Given the description of an element on the screen output the (x, y) to click on. 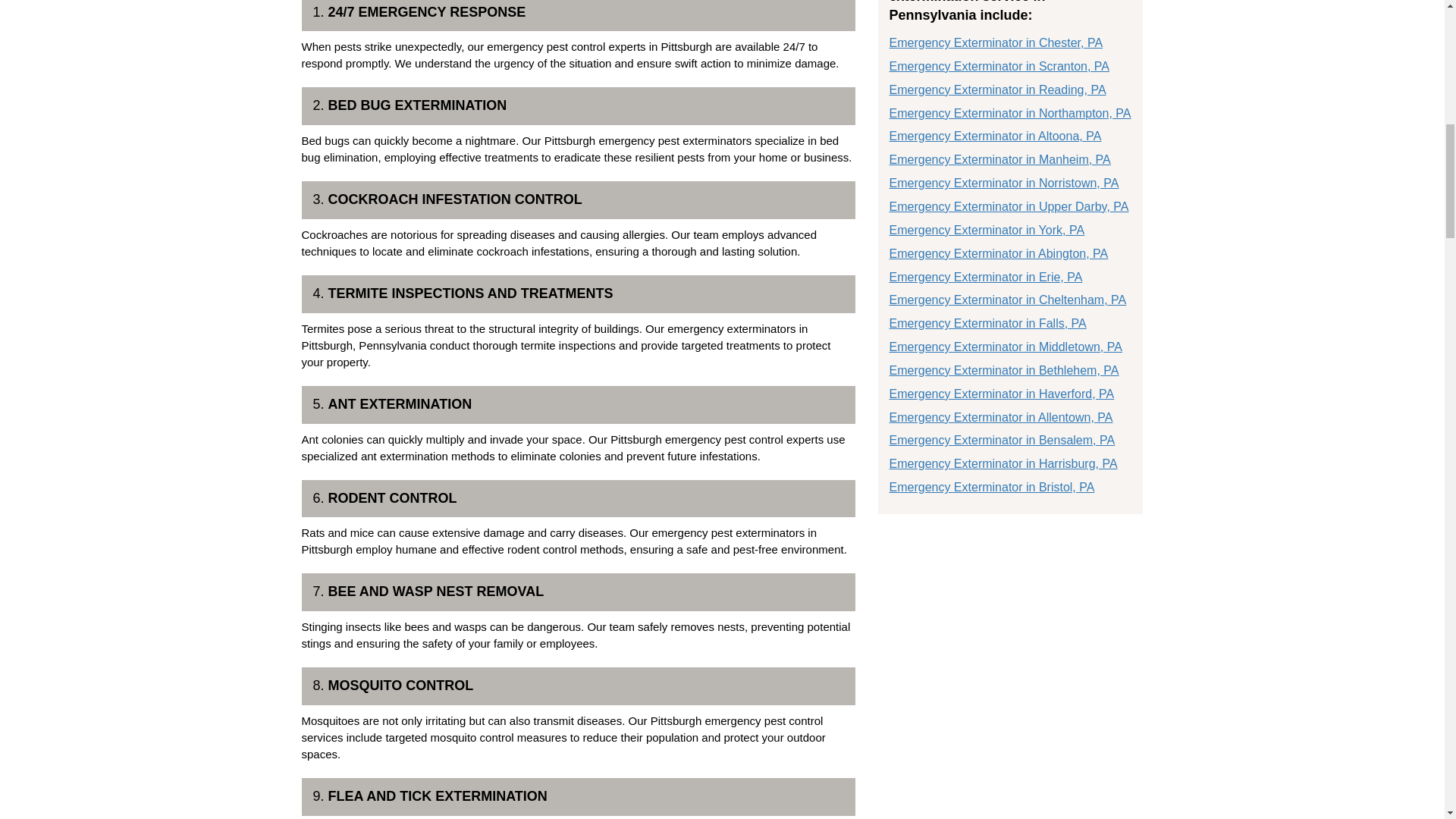
Emergency Exterminator in Altoona, PA (994, 135)
Emergency pest control in Northampton, PA (1009, 113)
Emergency pest control in Cheltenham, PA (1006, 299)
Emergency Exterminator in Cheltenham, PA (1006, 299)
Emergency pest control in York, PA (986, 229)
Emergency pest control in Upper Darby, PA (1008, 205)
Emergency Exterminator in Bethlehem, PA (1003, 369)
Emergency Exterminator in Harrisburg, PA (1002, 463)
Emergency pest control in Middletown, PA (1004, 346)
Emergency pest control in Haverford, PA (1000, 393)
